Given the description of an element on the screen output the (x, y) to click on. 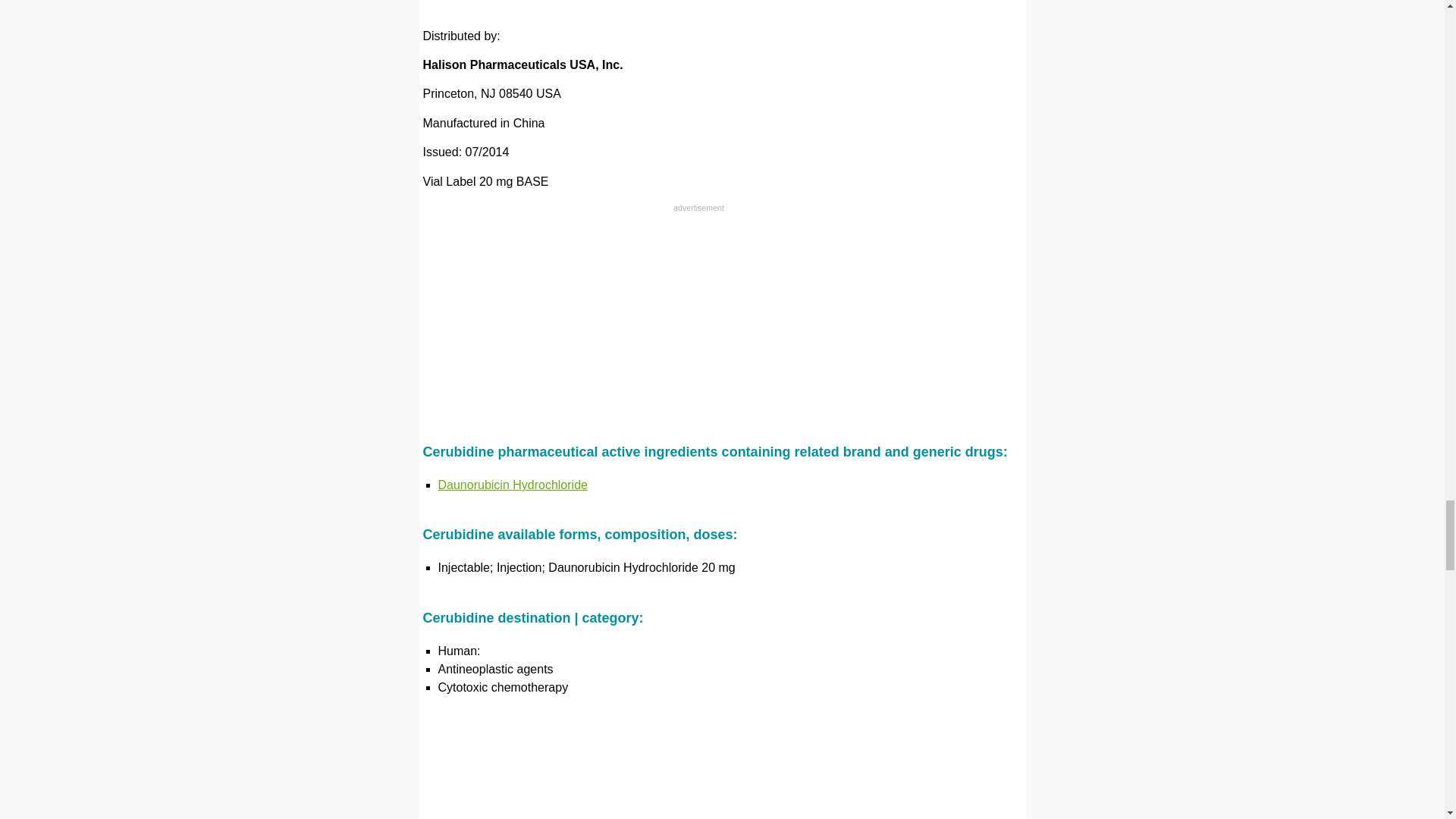
Daunorubicin Hydrochloride (513, 484)
